Given the description of an element on the screen output the (x, y) to click on. 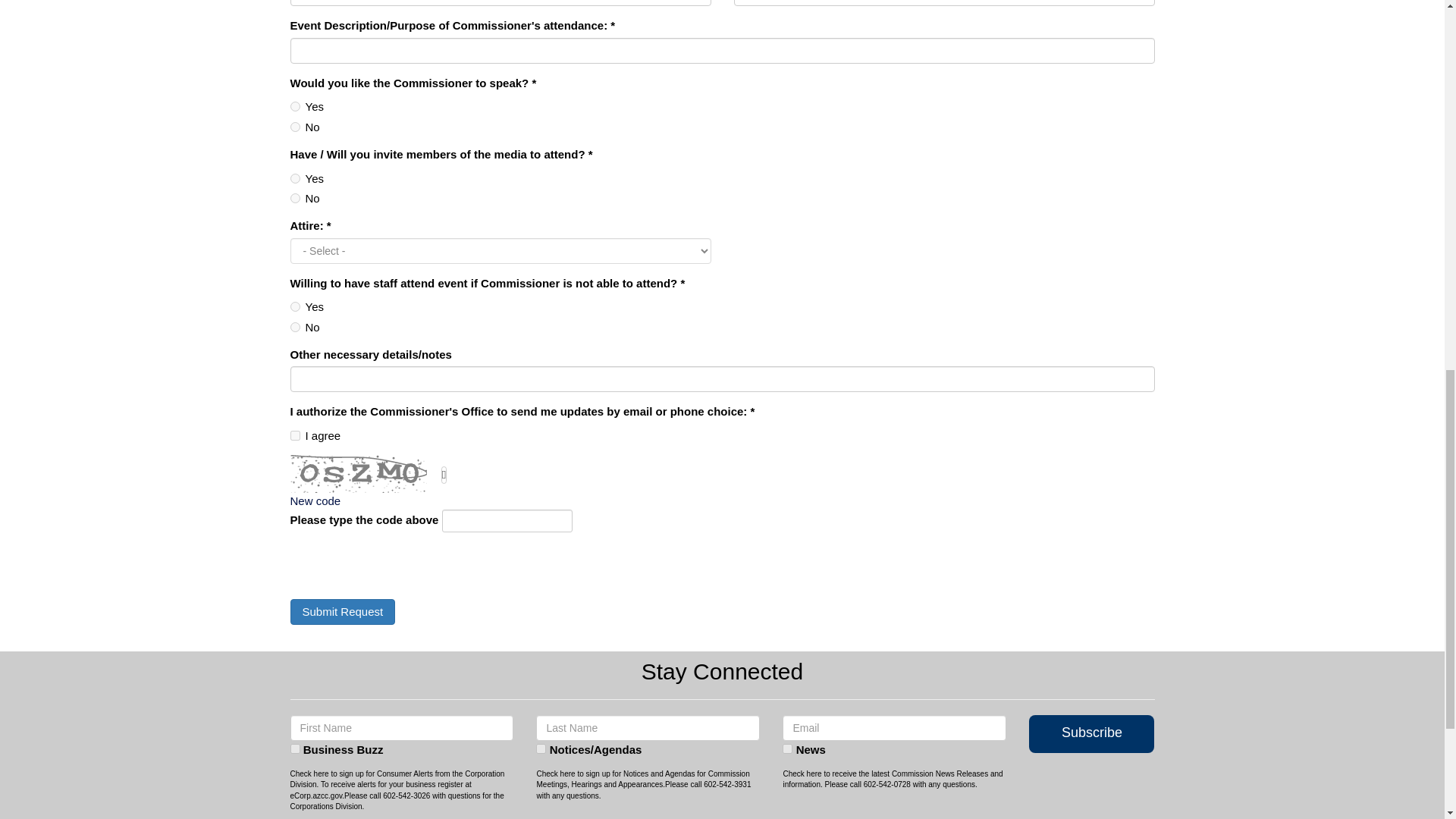
No (294, 126)
Yes (294, 307)
New code (314, 500)
No (294, 198)
Yes (294, 106)
No (294, 327)
Submit Request (341, 611)
Yes (294, 178)
